Given the description of an element on the screen output the (x, y) to click on. 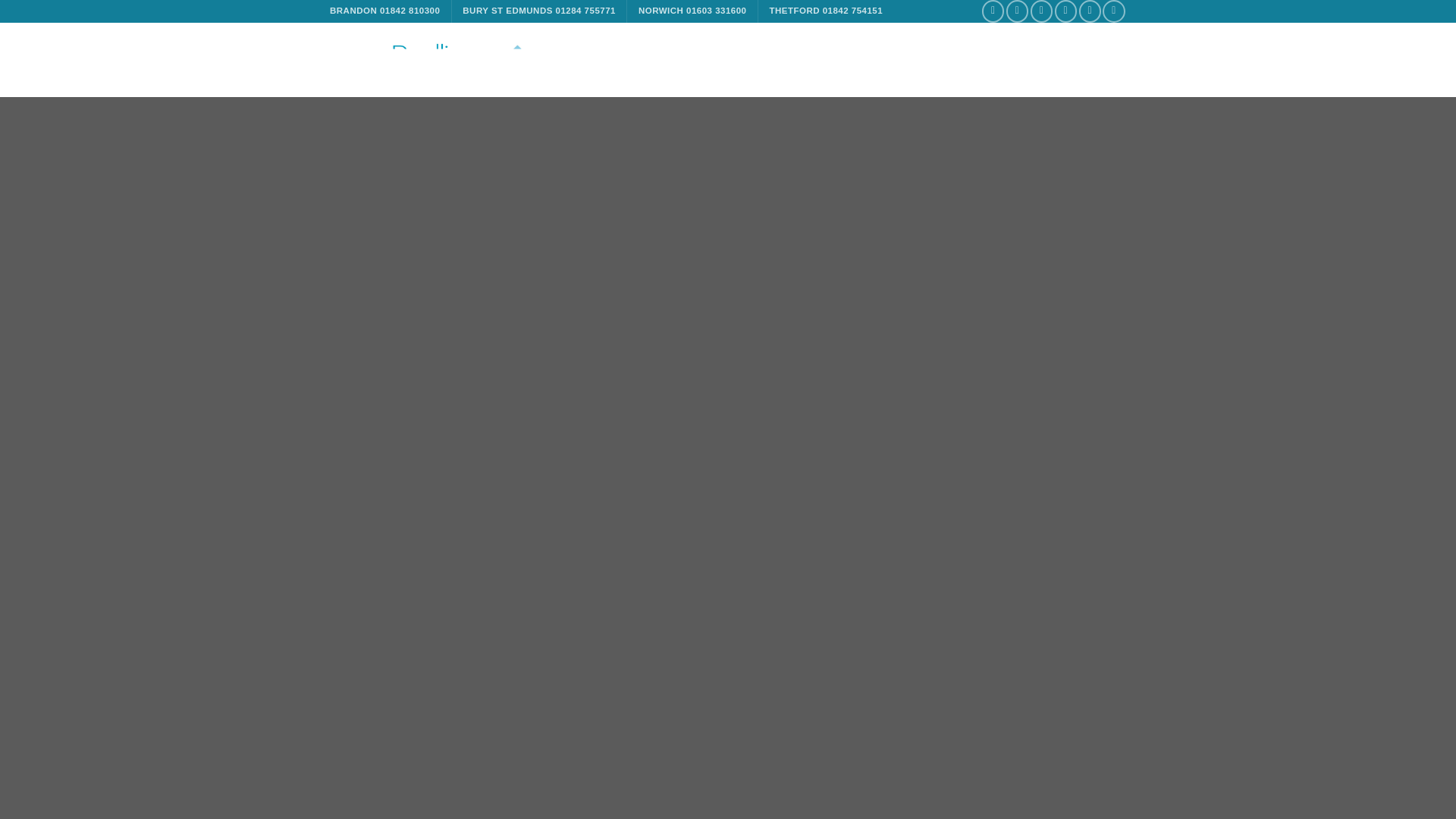
Follow on Facebook (992, 11)
Follow on Twitter (1041, 11)
Call us (1089, 11)
Follow on LinkedIn (1113, 11)
BURY ST EDMUNDS 01284 755771 (539, 11)
THETFORD 01842 754151 (825, 11)
BRANDON 01842 810300 (384, 11)
Follow on Instagram (1016, 11)
Send us an email (1065, 11)
NORWICH 01603 331600 (692, 11)
